Given the description of an element on the screen output the (x, y) to click on. 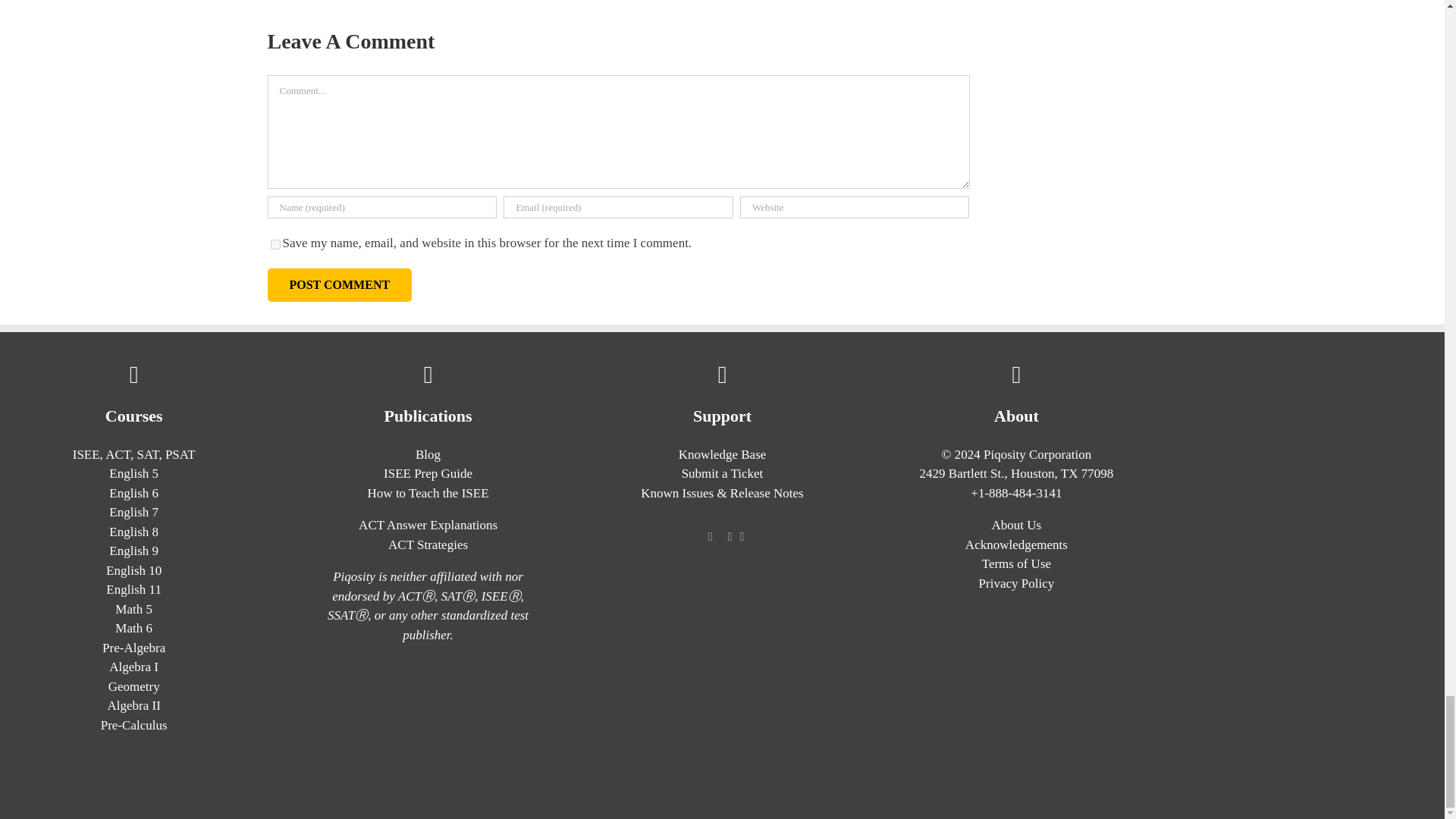
yes (274, 244)
Post Comment (339, 285)
